Given the description of an element on the screen output the (x, y) to click on. 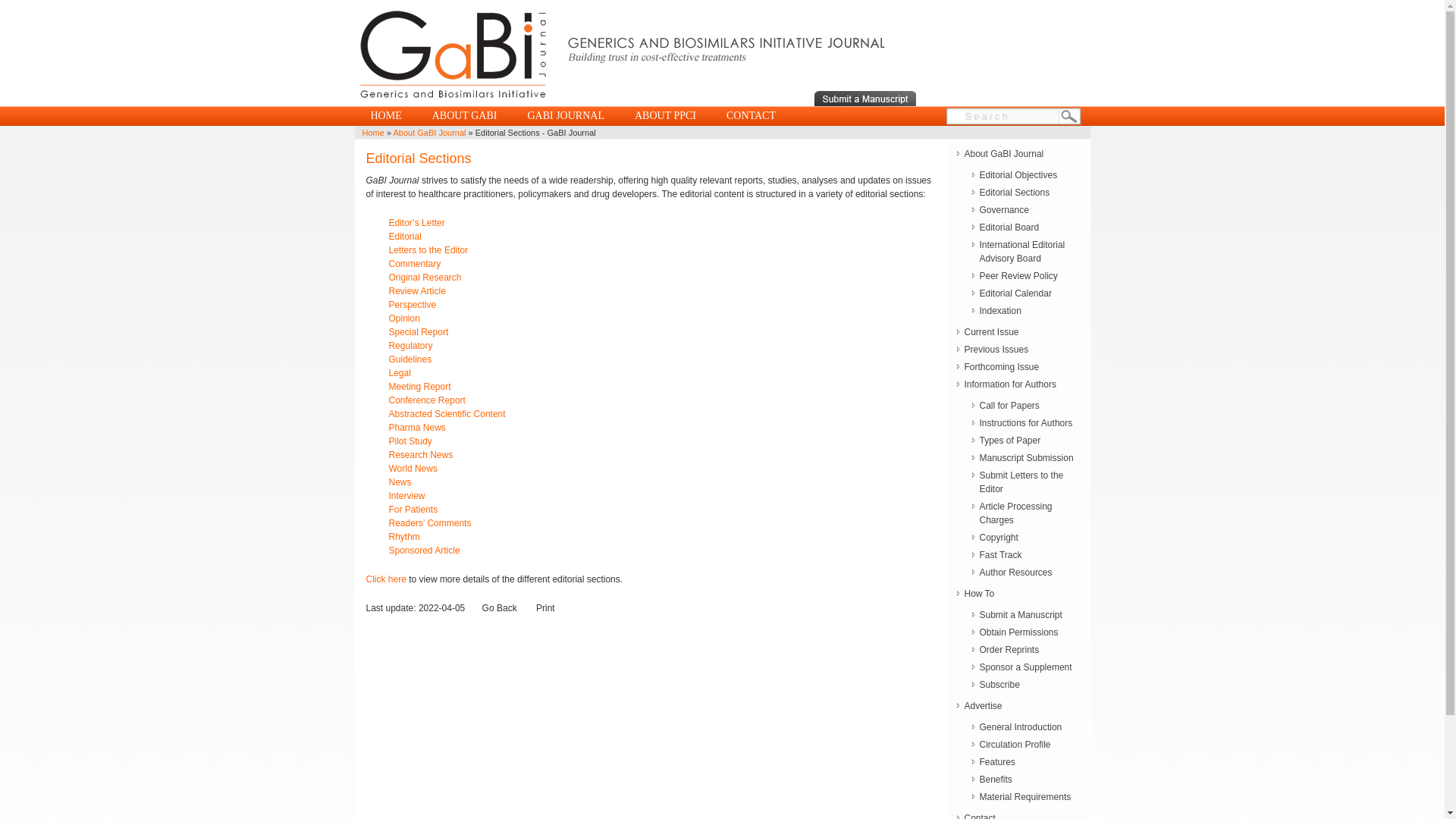
Legal (399, 372)
Perspective (411, 304)
Special Report (418, 331)
Abstracted Scientific Content (446, 413)
Editorial (416, 242)
Meeting Report (418, 386)
Special Report (418, 331)
HOME (385, 116)
Editorial (416, 242)
Commentary (414, 263)
